Given the description of an element on the screen output the (x, y) to click on. 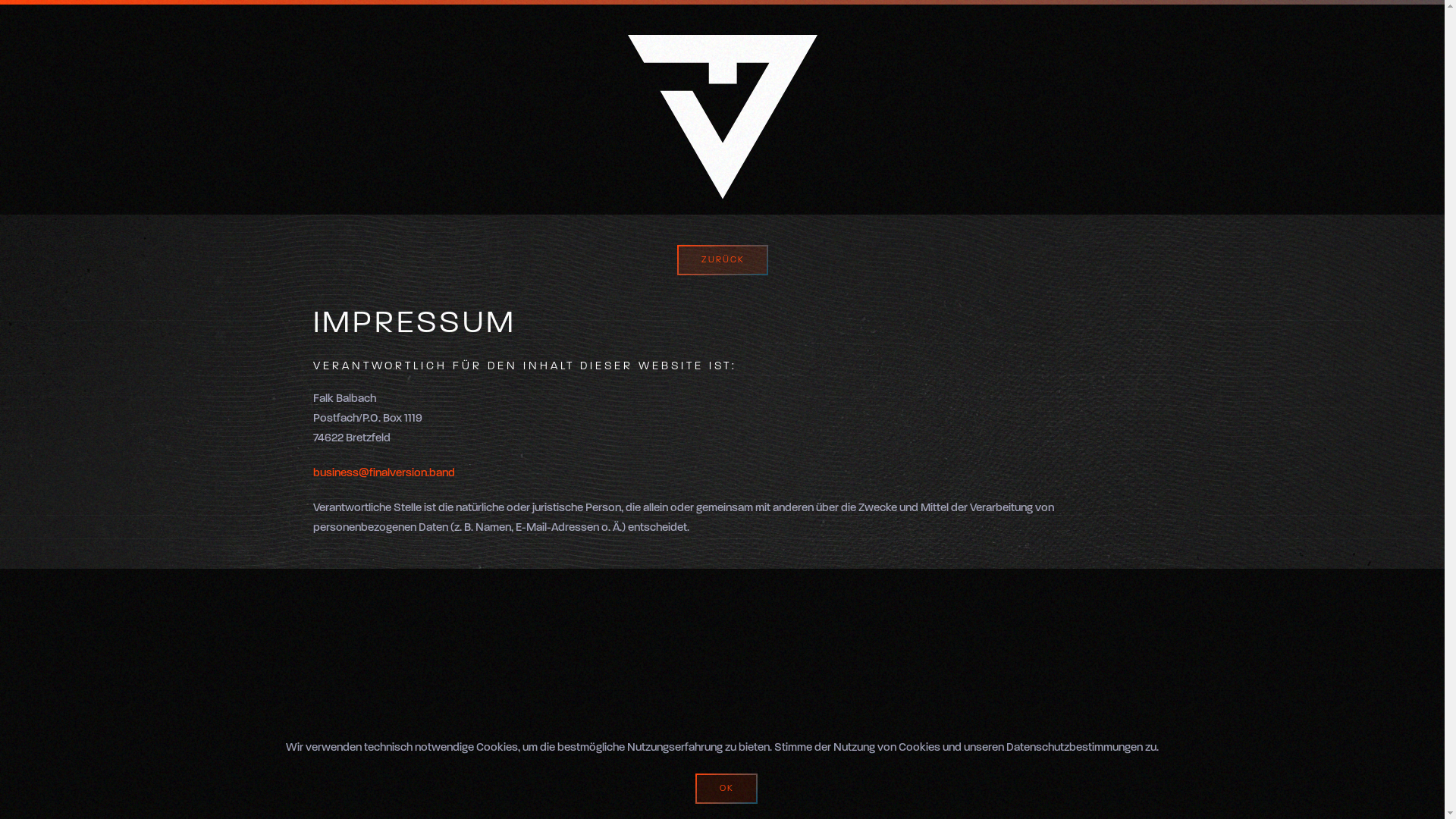
OK Element type: text (725, 788)
business@finalversion.band Element type: text (383, 473)
